Given the description of an element on the screen output the (x, y) to click on. 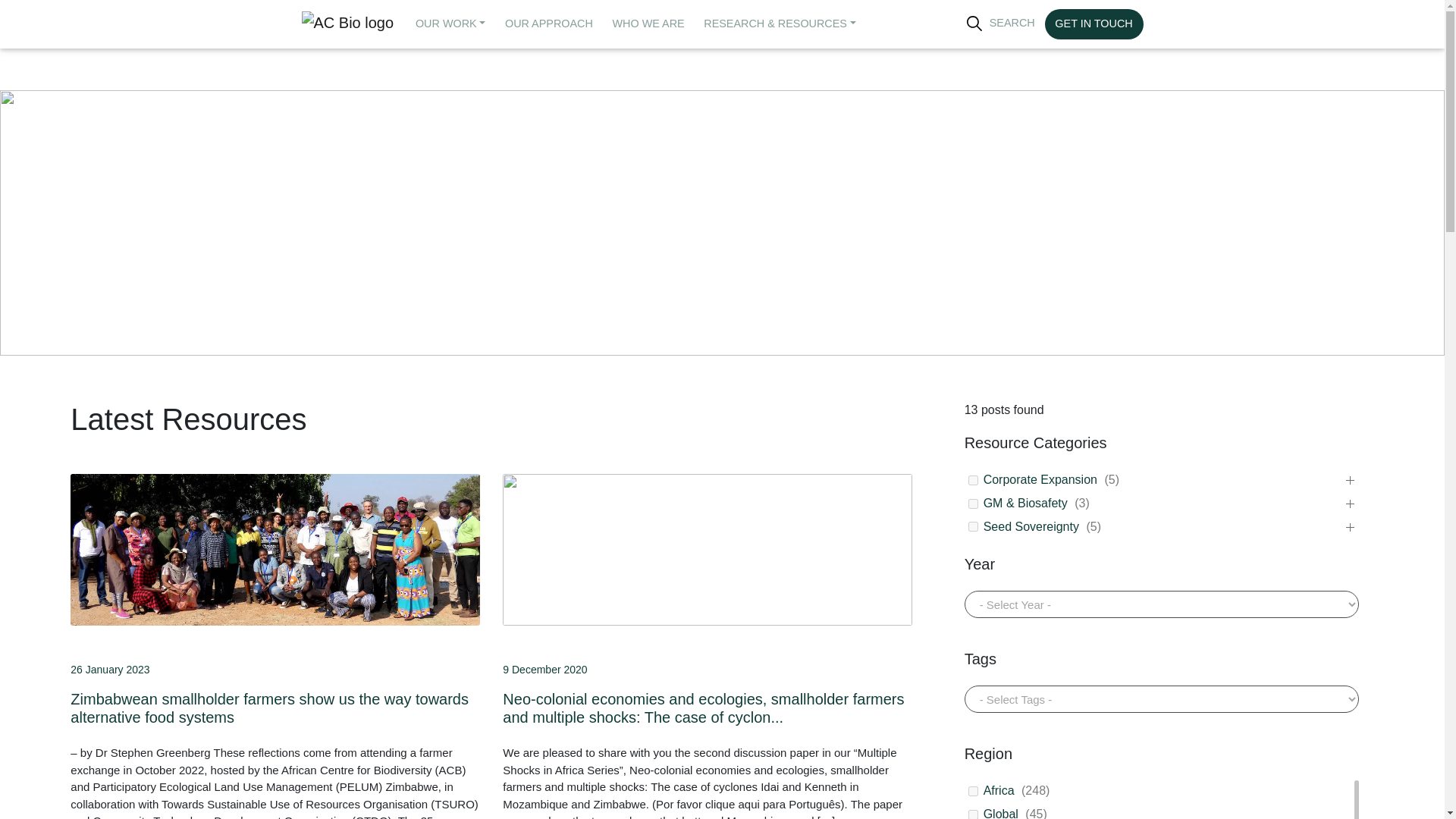
on (973, 480)
GET IN TOUCH (1093, 24)
on (973, 814)
on (973, 791)
SEARCH (1000, 23)
OUR WORK (450, 23)
WHO WE ARE (648, 23)
on (973, 503)
on (973, 526)
OUR APPROACH (548, 23)
